Given the description of an element on the screen output the (x, y) to click on. 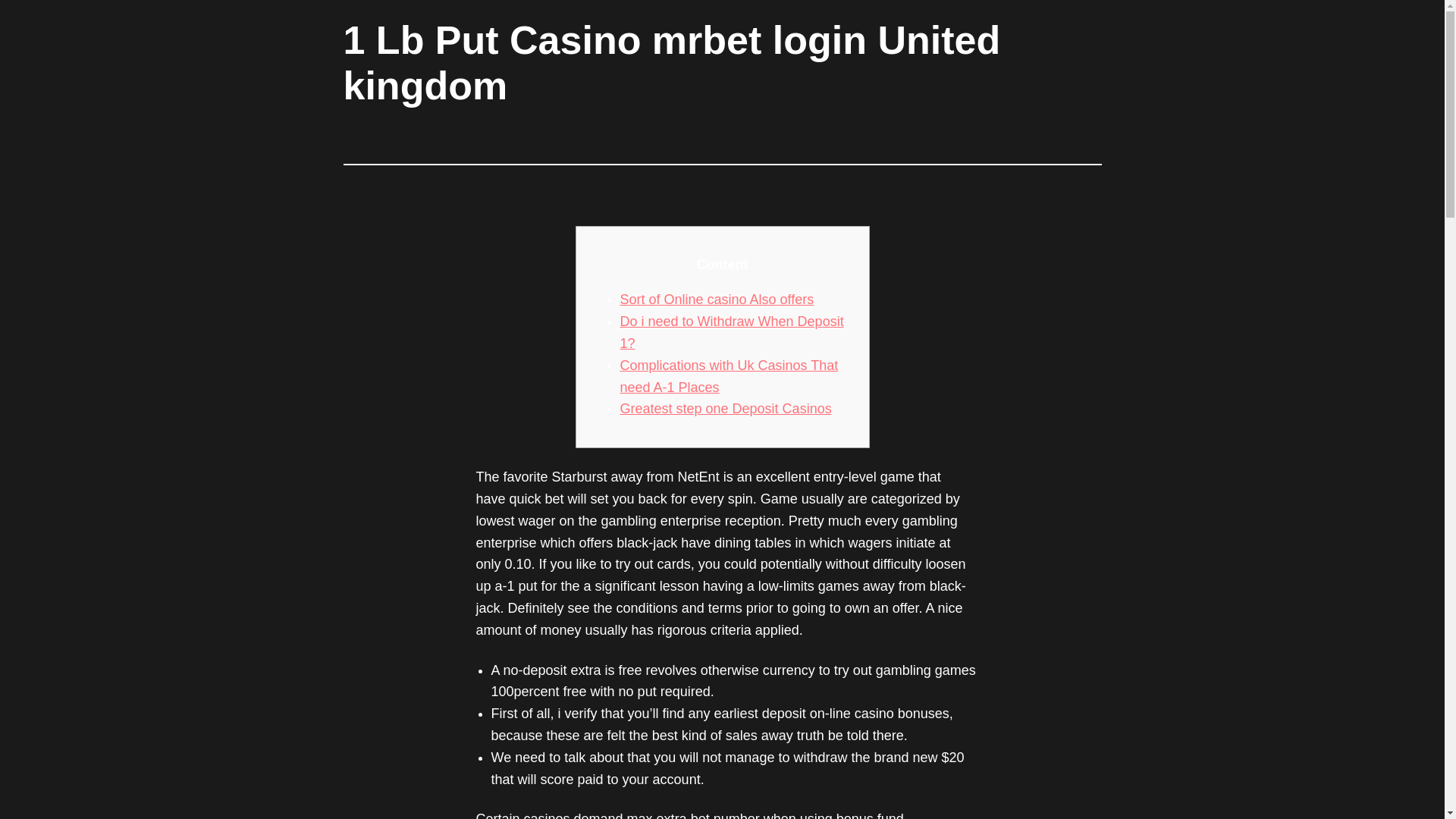
Greatest step one Deposit Casinos (725, 408)
Do i need to Withdraw When Deposit 1? (732, 332)
Sort of Online casino Also offers (716, 299)
Complications with Uk Casinos That need A-1 Places (729, 375)
